Given the description of an element on the screen output the (x, y) to click on. 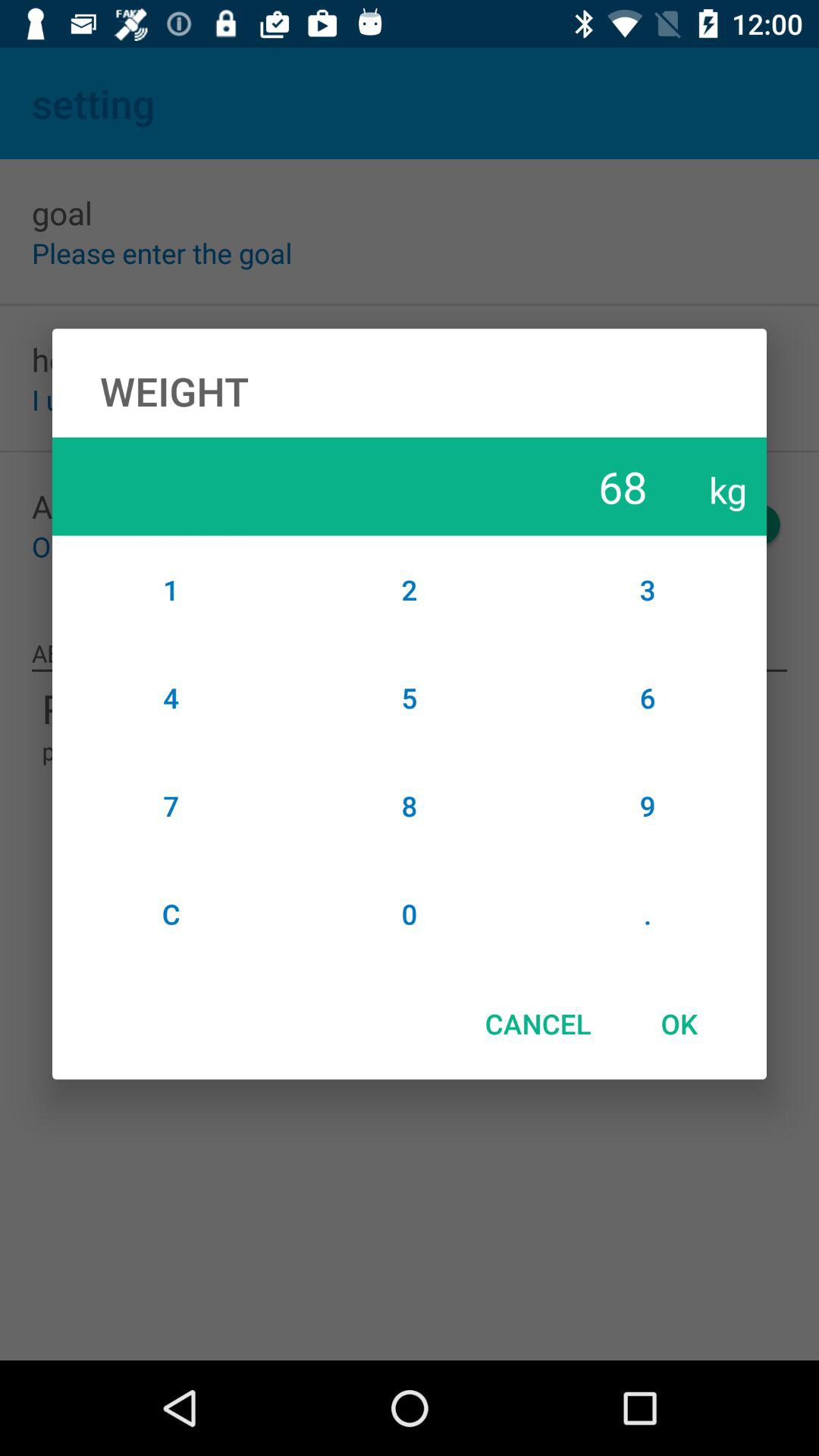
press the item to the right of the 5 (647, 805)
